Given the description of an element on the screen output the (x, y) to click on. 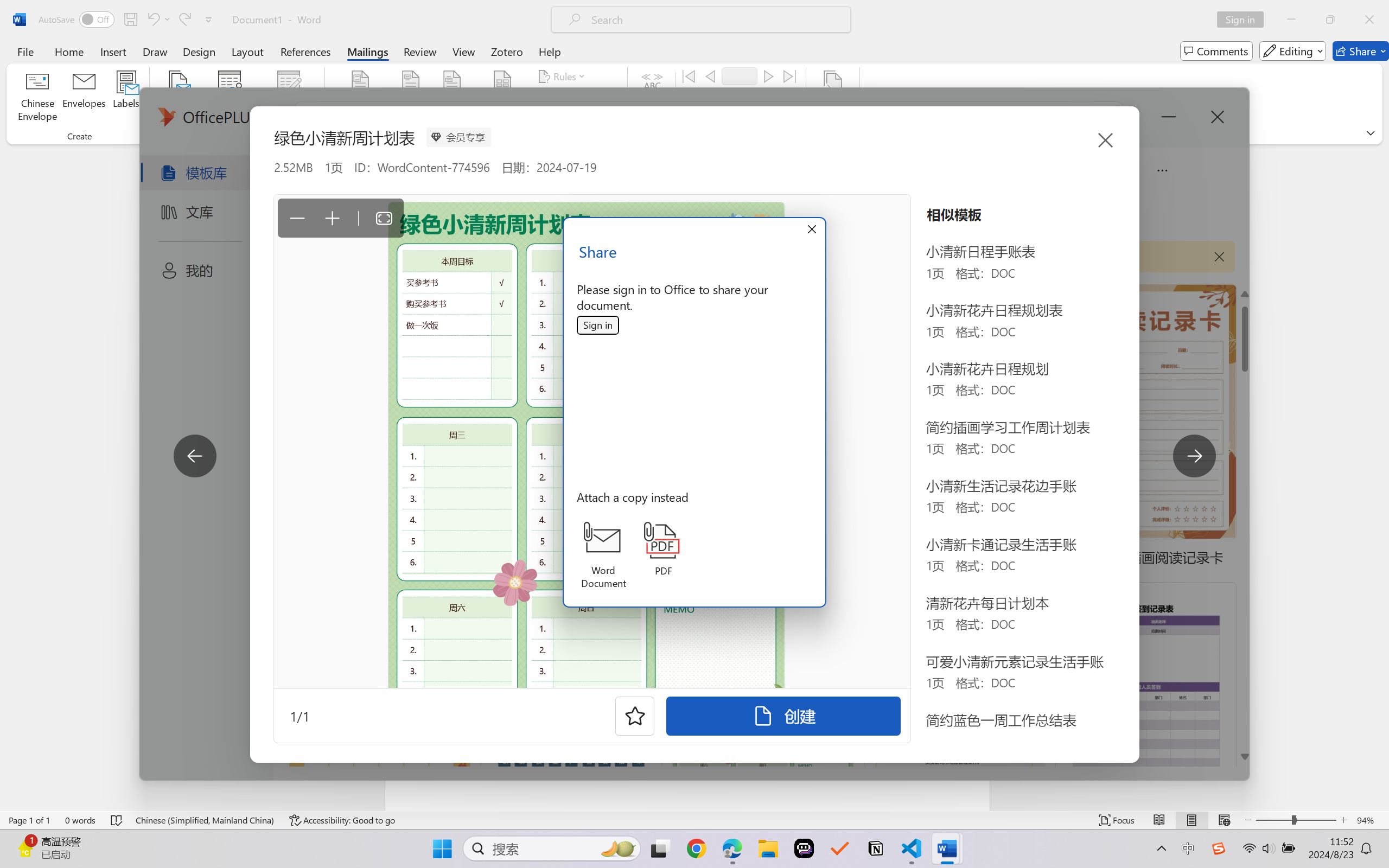
Edit Recipient List... (288, 97)
Next (768, 75)
Start Mail Merge (177, 97)
